Given the description of an element on the screen output the (x, y) to click on. 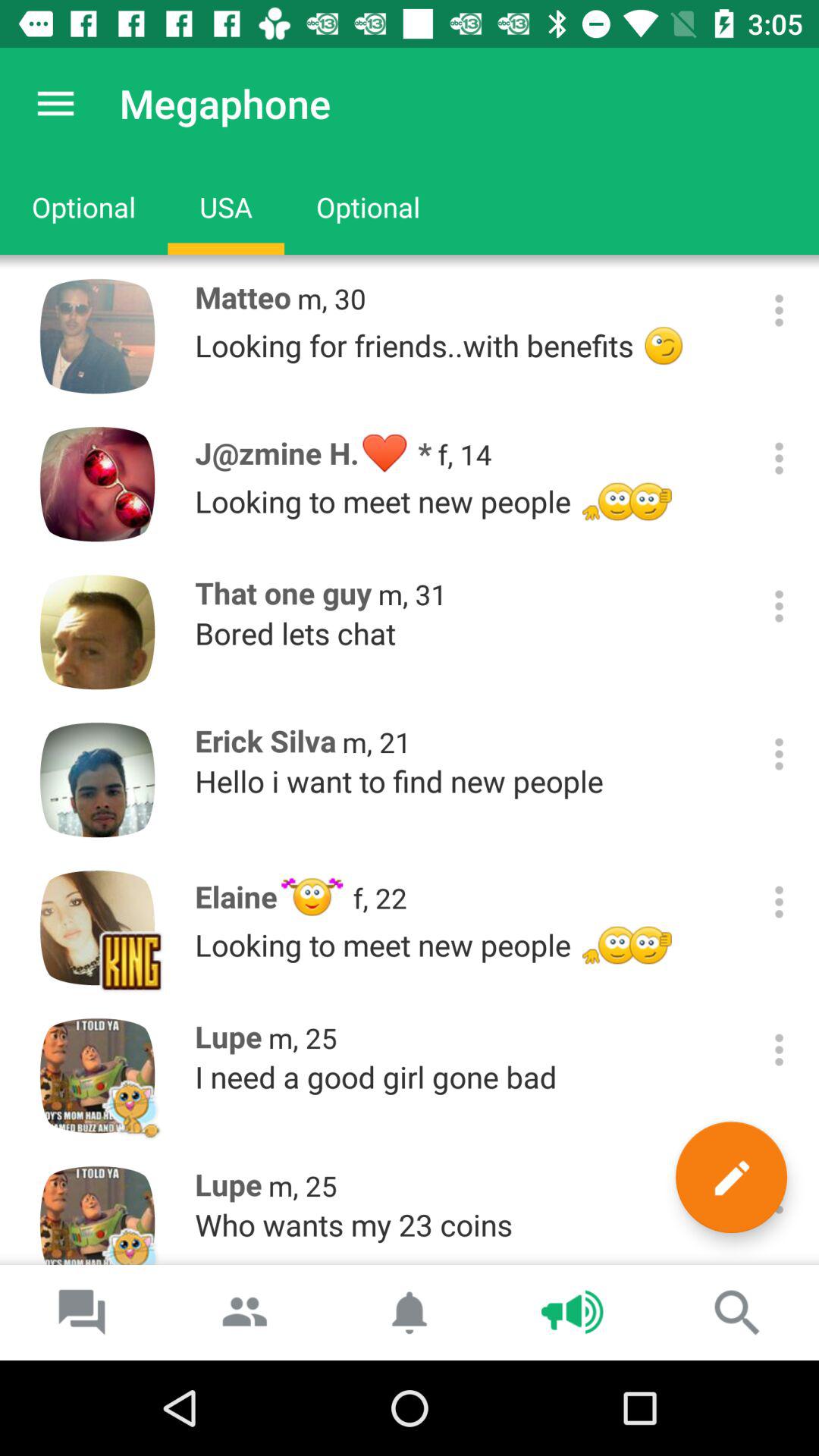
turn off icon next to megaphone icon (55, 103)
